Given the description of an element on the screen output the (x, y) to click on. 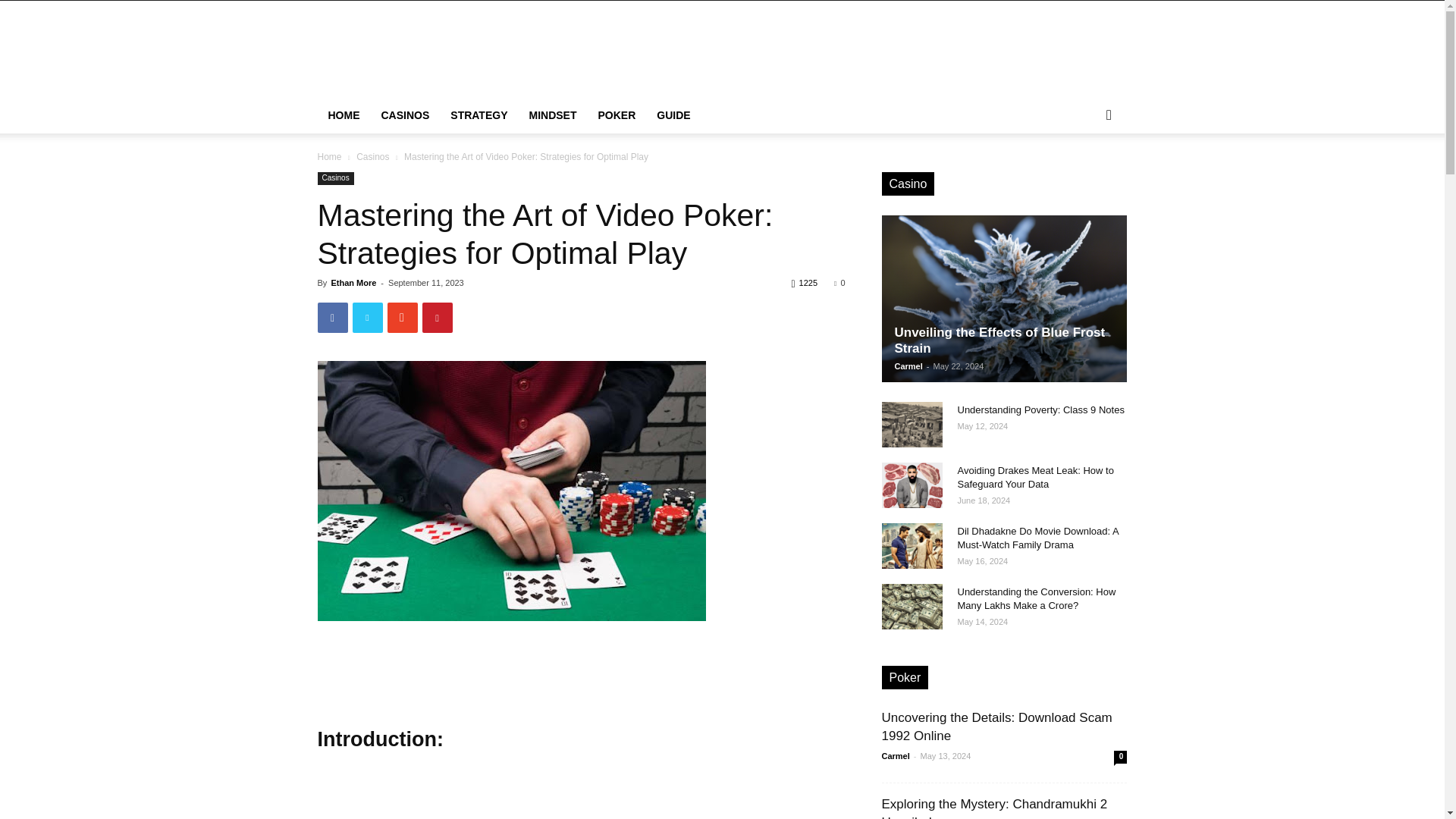
Advertisement (850, 56)
Unveiling the Effects of Blue Frost Strain (1015, 298)
Unveiling the Effects of Blue Frost Strain (1003, 298)
Casinos (335, 178)
Video Poker (510, 490)
STRATEGY (478, 115)
Advertisement (580, 791)
0 (839, 282)
HOME (343, 115)
CASINOS (404, 115)
Ethan More (352, 282)
Advertisement (580, 663)
POKER (616, 115)
View all posts in Casinos (372, 156)
MINDSET (553, 115)
